Given the description of an element on the screen output the (x, y) to click on. 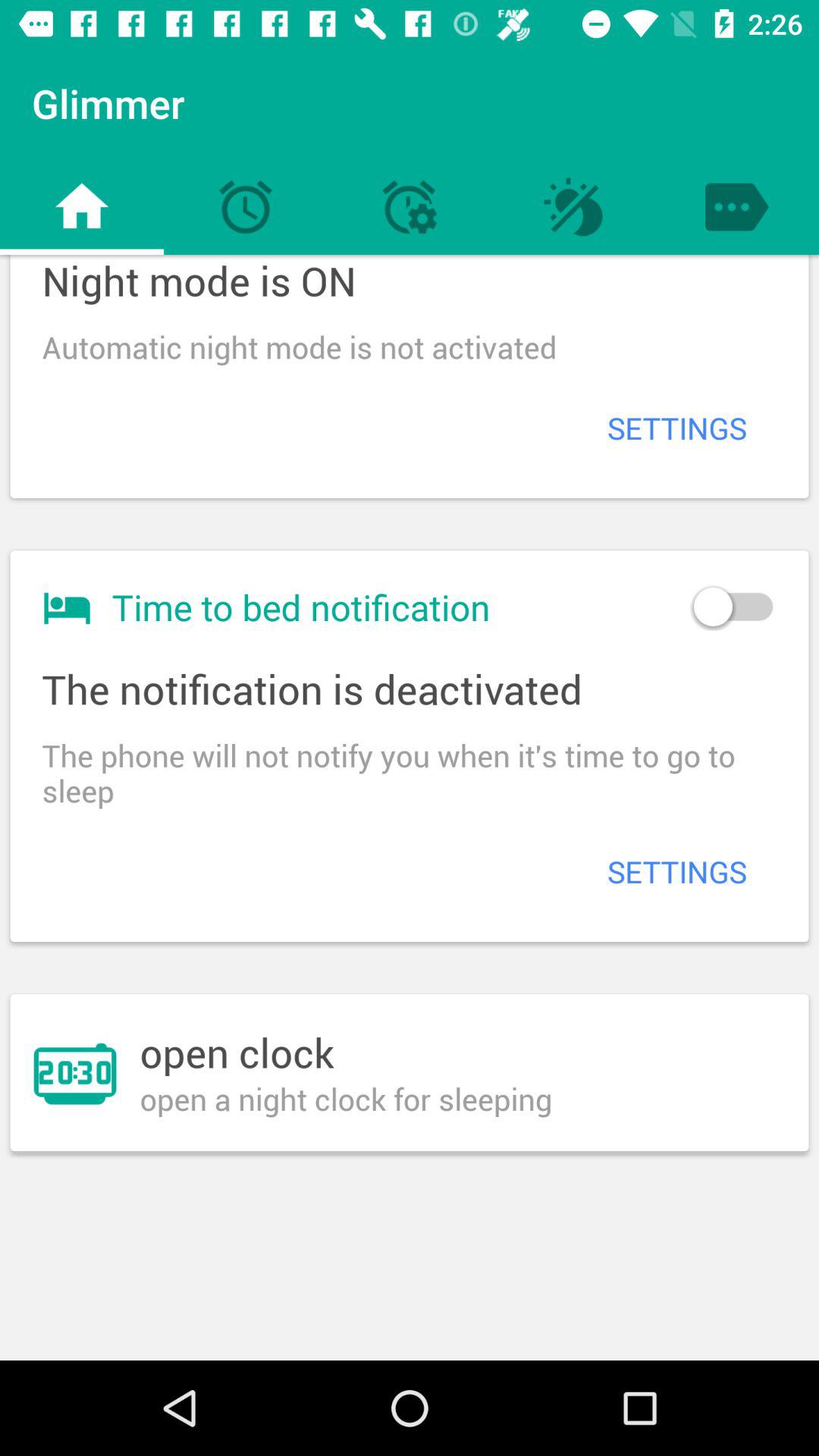
turn off icon next to time to bed (732, 606)
